Given the description of an element on the screen output the (x, y) to click on. 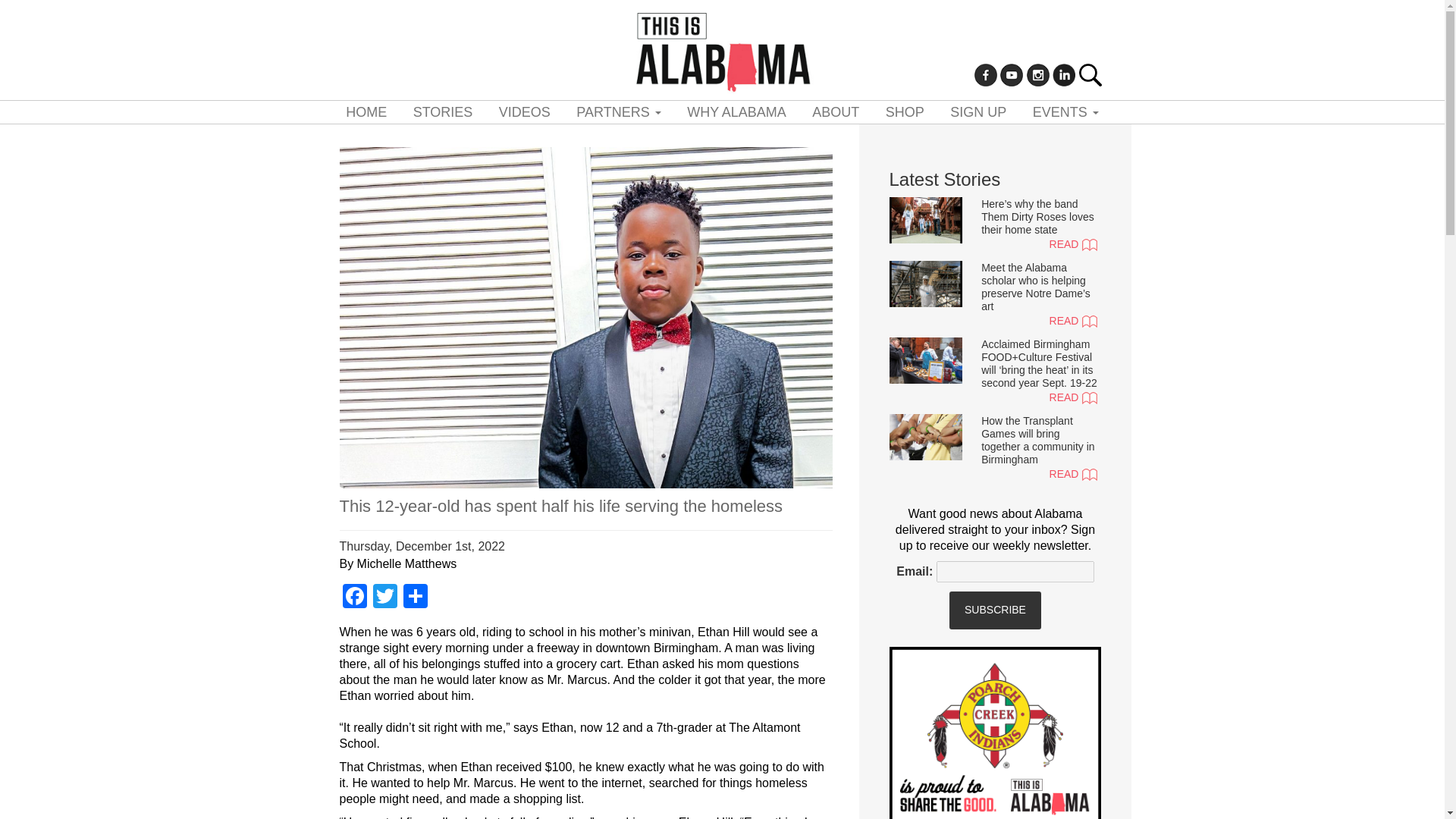
WHY ALABAMA (736, 111)
PARTNERS (617, 111)
READ (1039, 321)
Subscribe (995, 610)
Facebook (354, 597)
This Is Alabama (721, 49)
SIGN UP (978, 111)
Share (415, 597)
SHOP (905, 111)
Facebook (354, 597)
Subscribe (995, 610)
READ (1039, 397)
Twitter (384, 597)
